Given the description of an element on the screen output the (x, y) to click on. 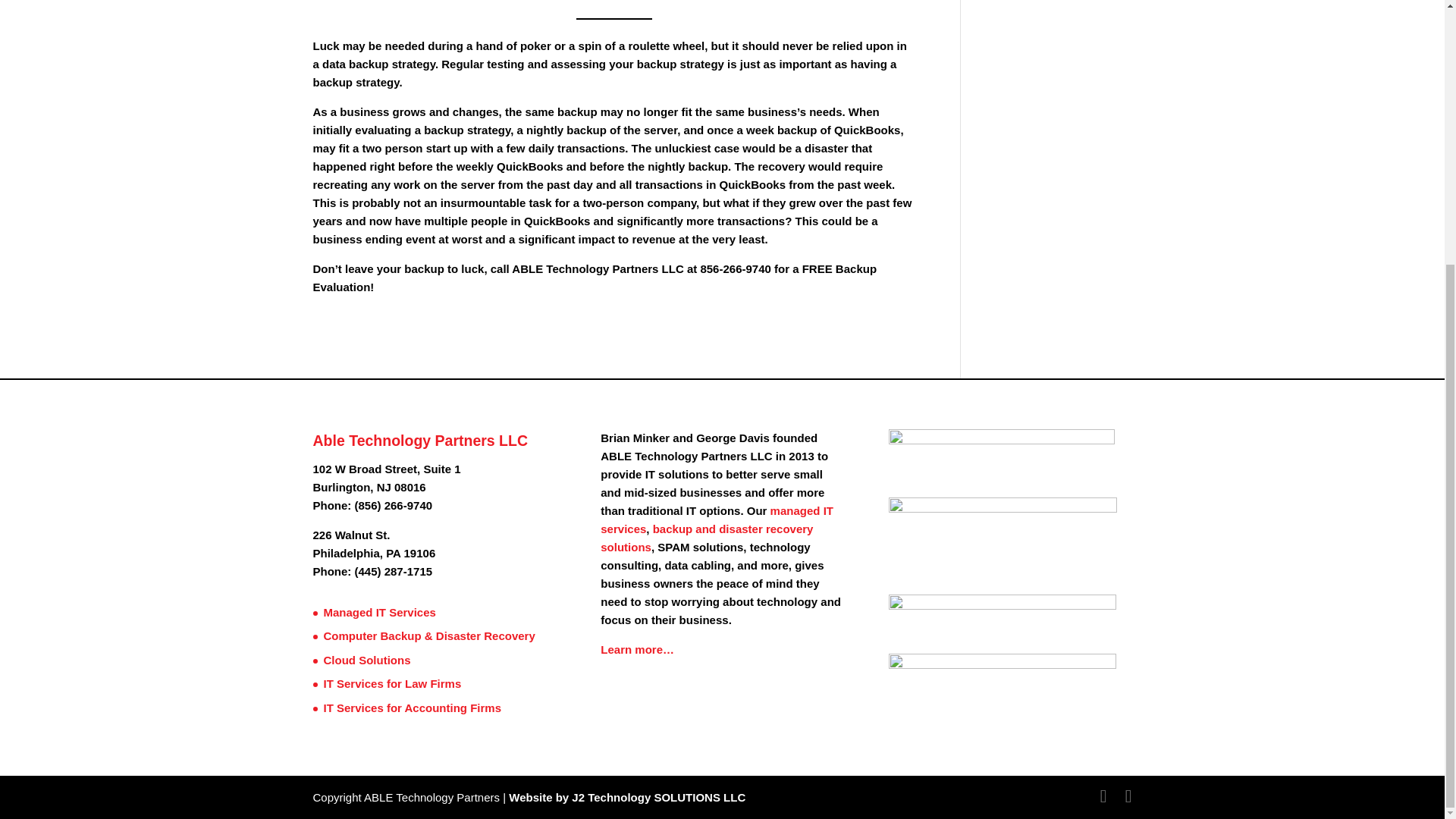
IT Services for Accounting Firms (411, 707)
backup and disaster recovery solutions (705, 537)
managed IT services (715, 519)
Cloud Solutions (366, 659)
IT Services for Law Firms (392, 683)
Website by J2 Technology SOLUTIONS LLC (626, 797)
Managed IT Services (379, 612)
